Given the description of an element on the screen output the (x, y) to click on. 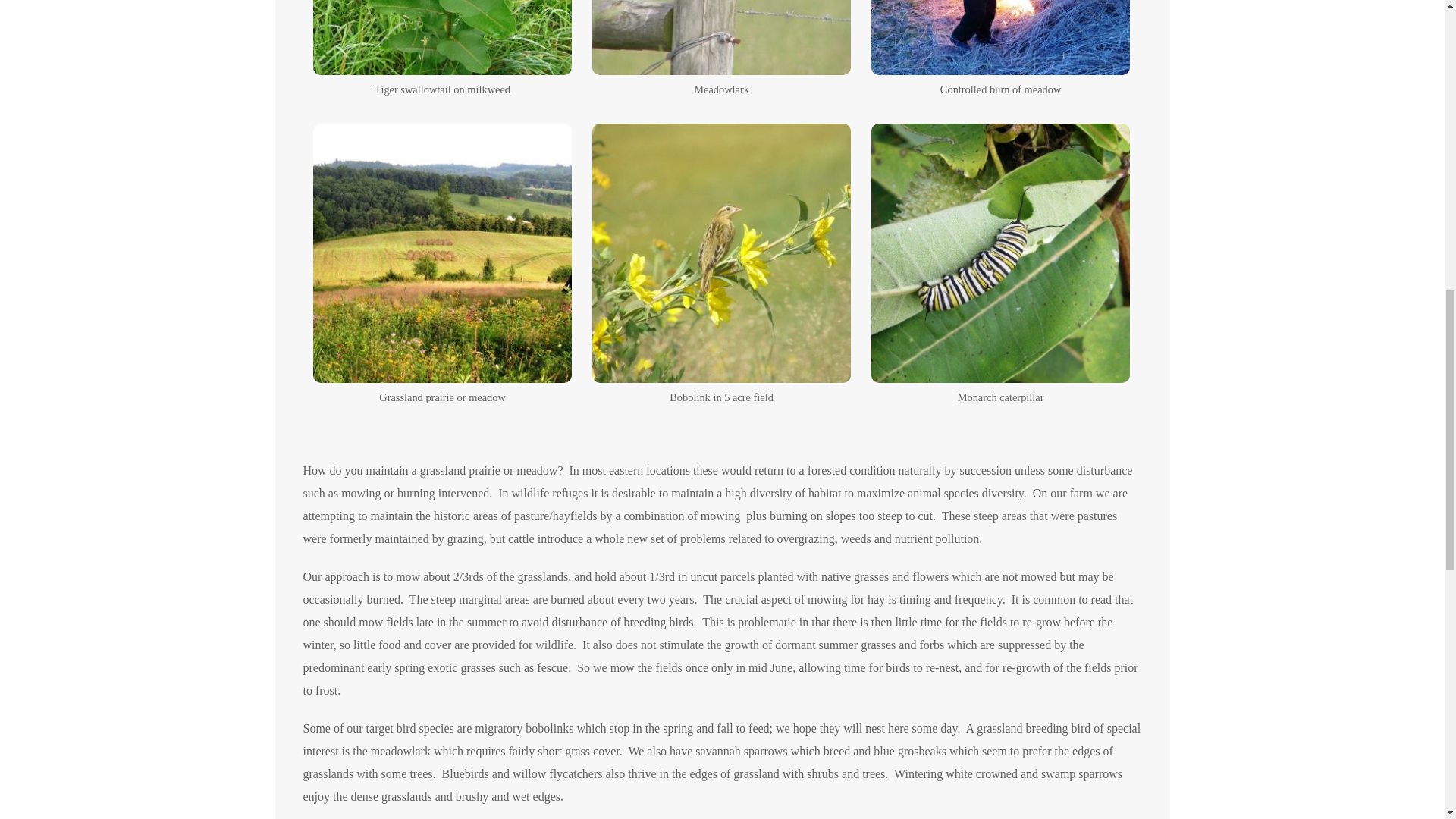
Bobolink in 5 acre field (721, 253)
Meadowlark (721, 37)
Controlled burn of meadow (1000, 37)
Grassland prairie or meadow (442, 253)
Tiger swallowtail on milkweed (442, 37)
Monarch caterpillar (1000, 253)
